Given the description of an element on the screen output the (x, y) to click on. 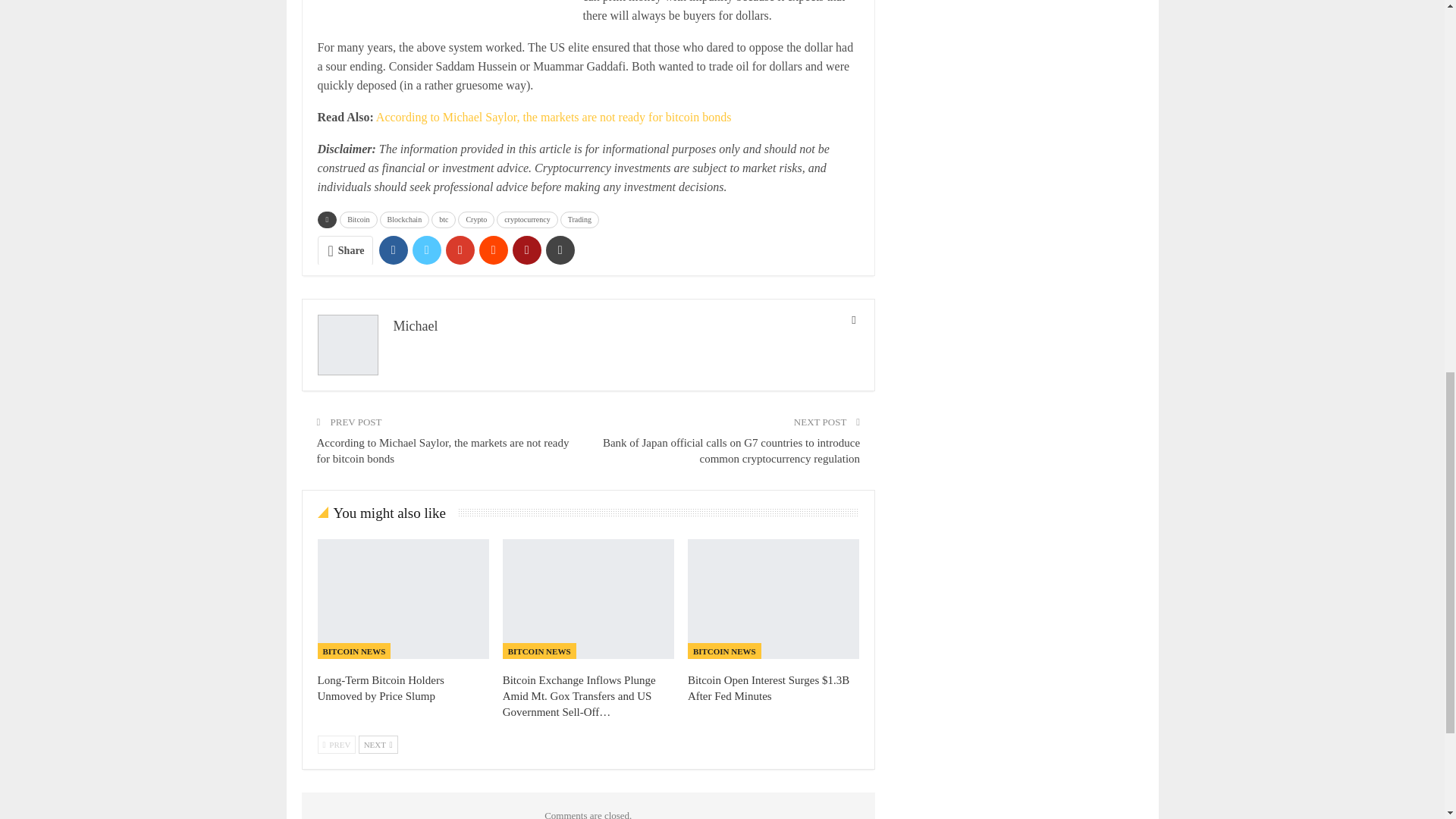
Long-Term Bitcoin Holders Unmoved by Price Slump (380, 687)
Long-Term Bitcoin Holders Unmoved by Price Slump (402, 598)
